Given the description of an element on the screen output the (x, y) to click on. 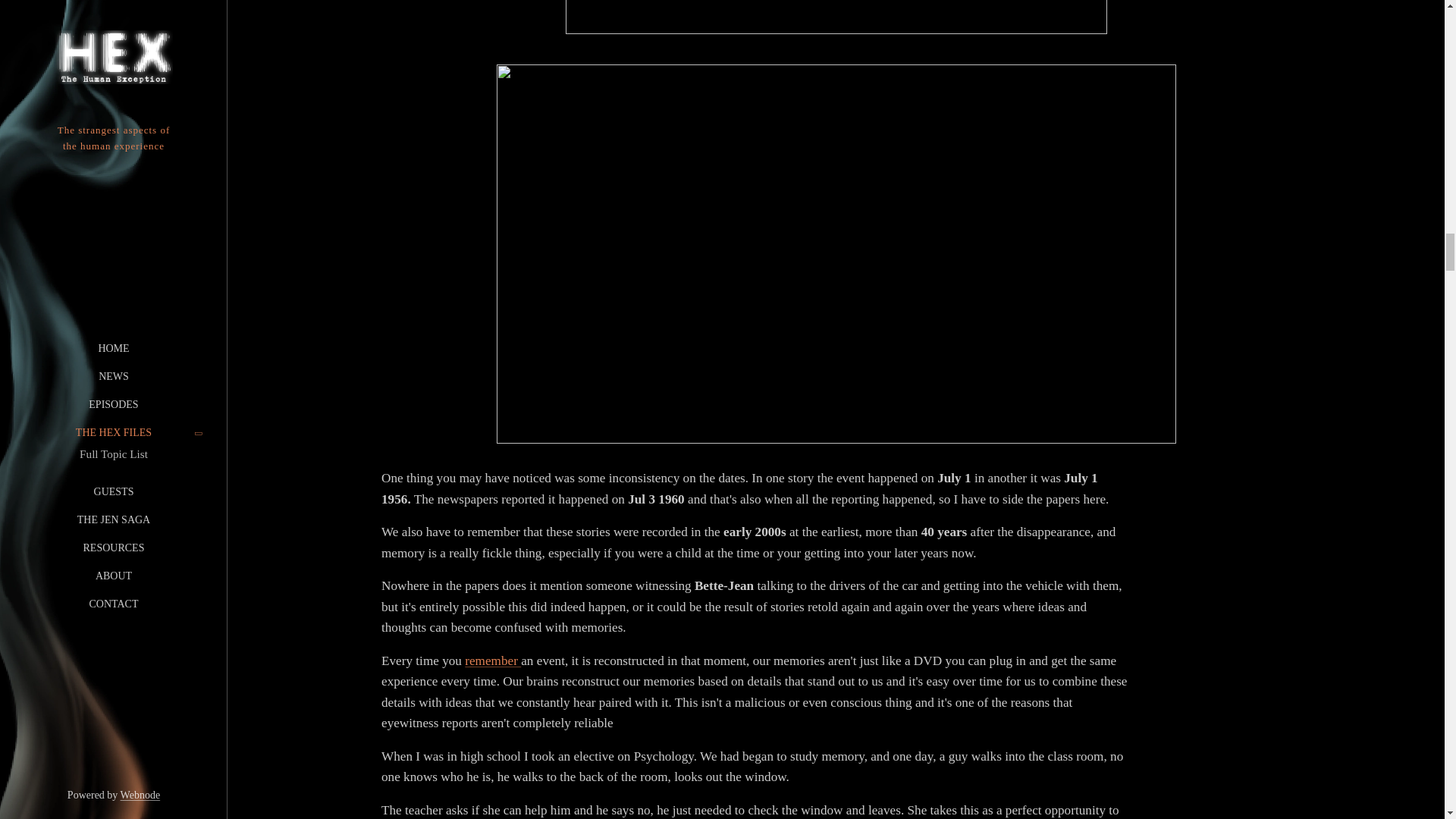
remember (492, 660)
